Given the description of an element on the screen output the (x, y) to click on. 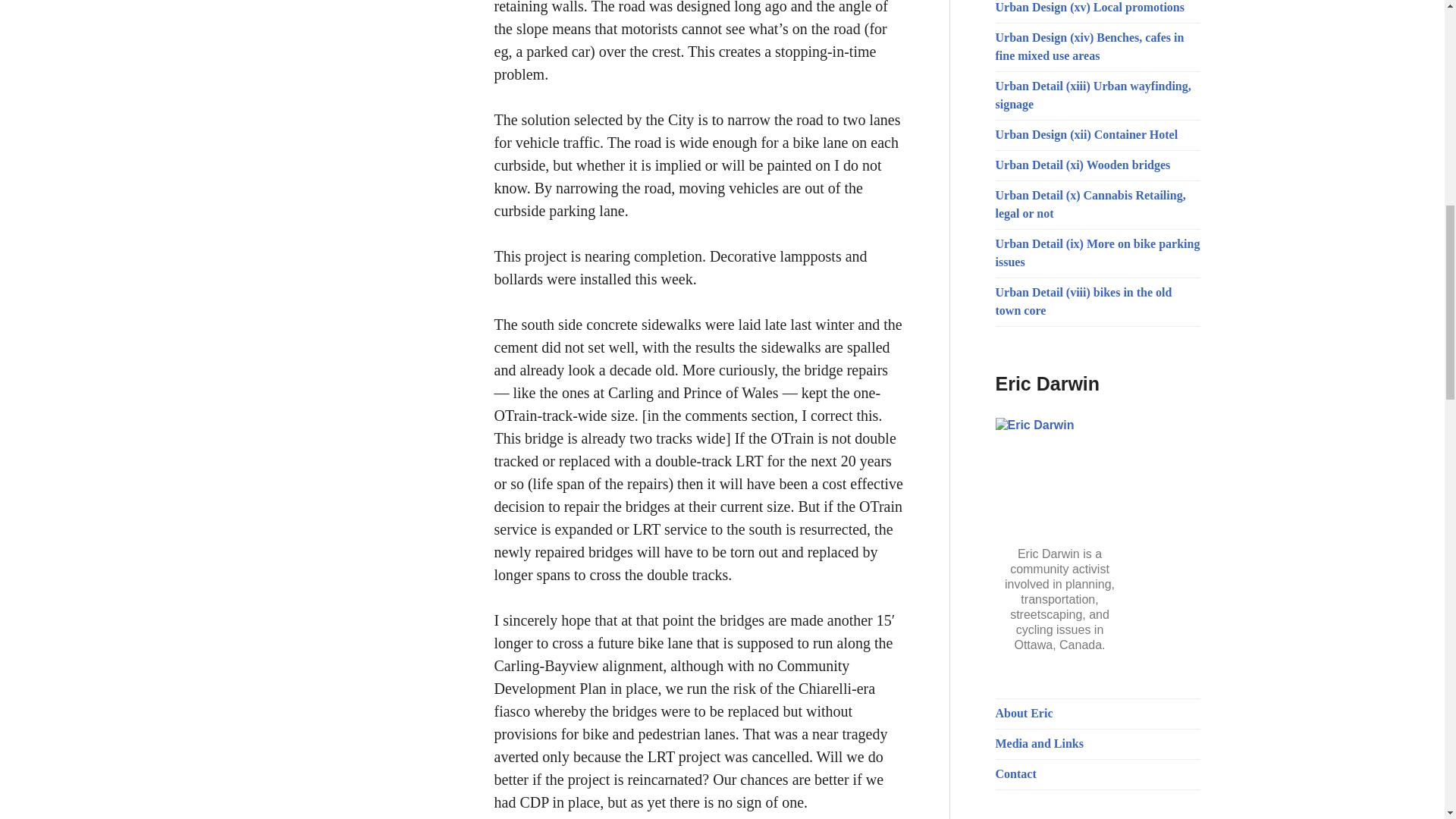
all capitals (1023, 712)
Bold (1014, 773)
Bold (1038, 743)
